Given the description of an element on the screen output the (x, y) to click on. 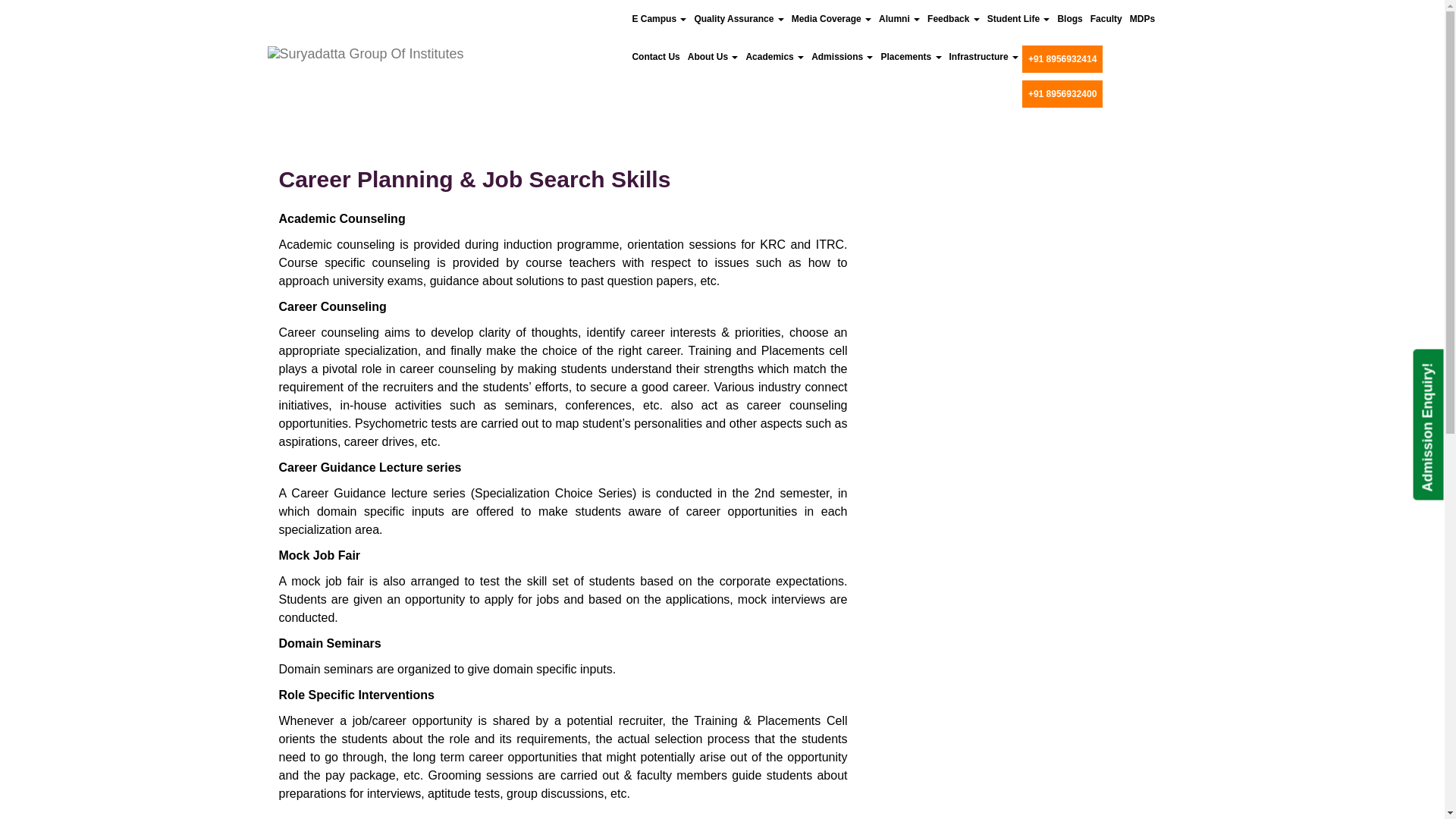
Quality Assurance (738, 18)
Alumni (899, 18)
Media Coverage (831, 18)
Suryadatta Group Of Institutes (418, 53)
E Campus (658, 18)
